Given the description of an element on the screen output the (x, y) to click on. 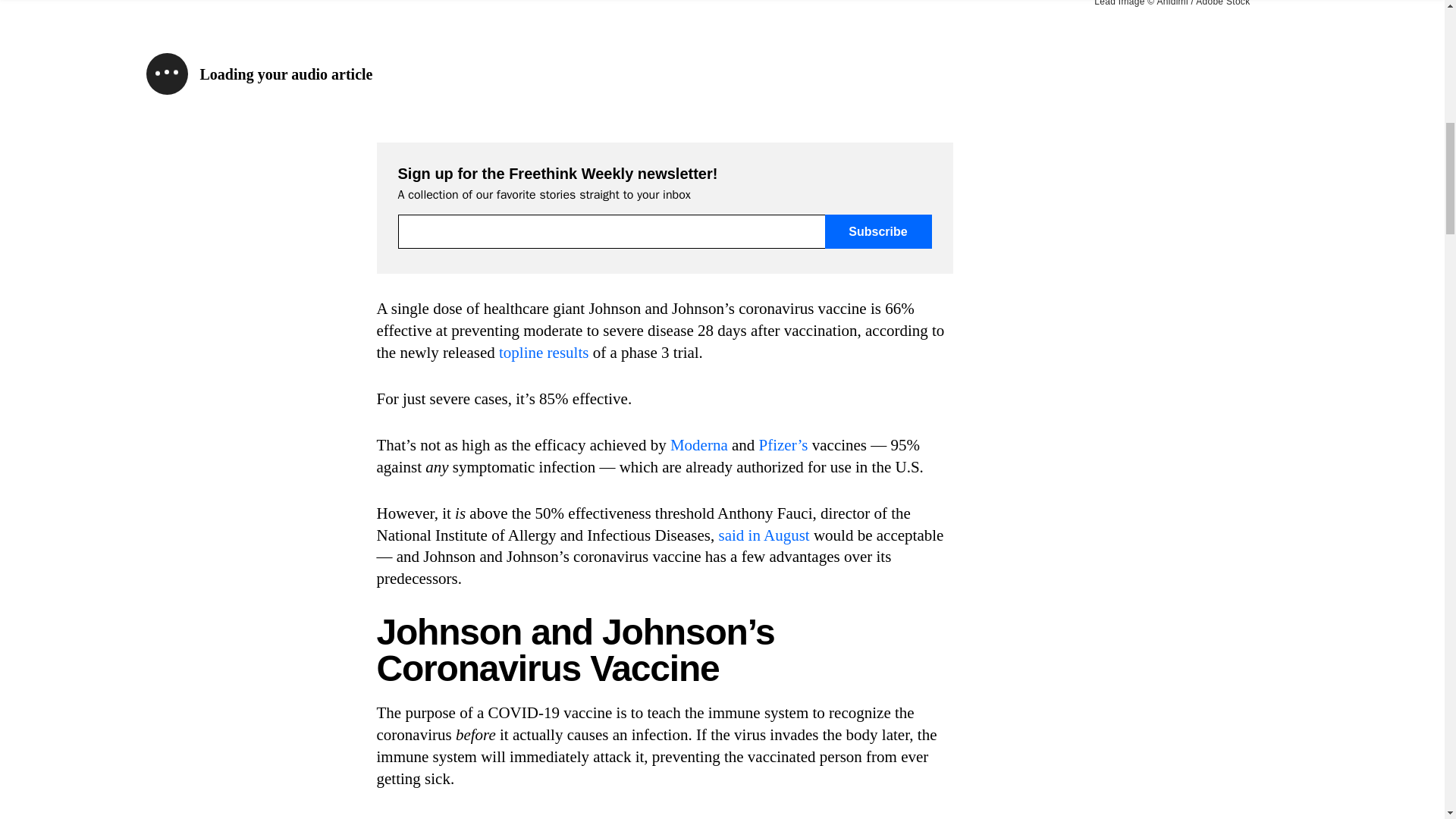
mRNA vaccines (881, 817)
said in August (764, 535)
Moderna (698, 444)
Subscribe (878, 231)
topline results (543, 352)
Subscribe (878, 231)
